Given the description of an element on the screen output the (x, y) to click on. 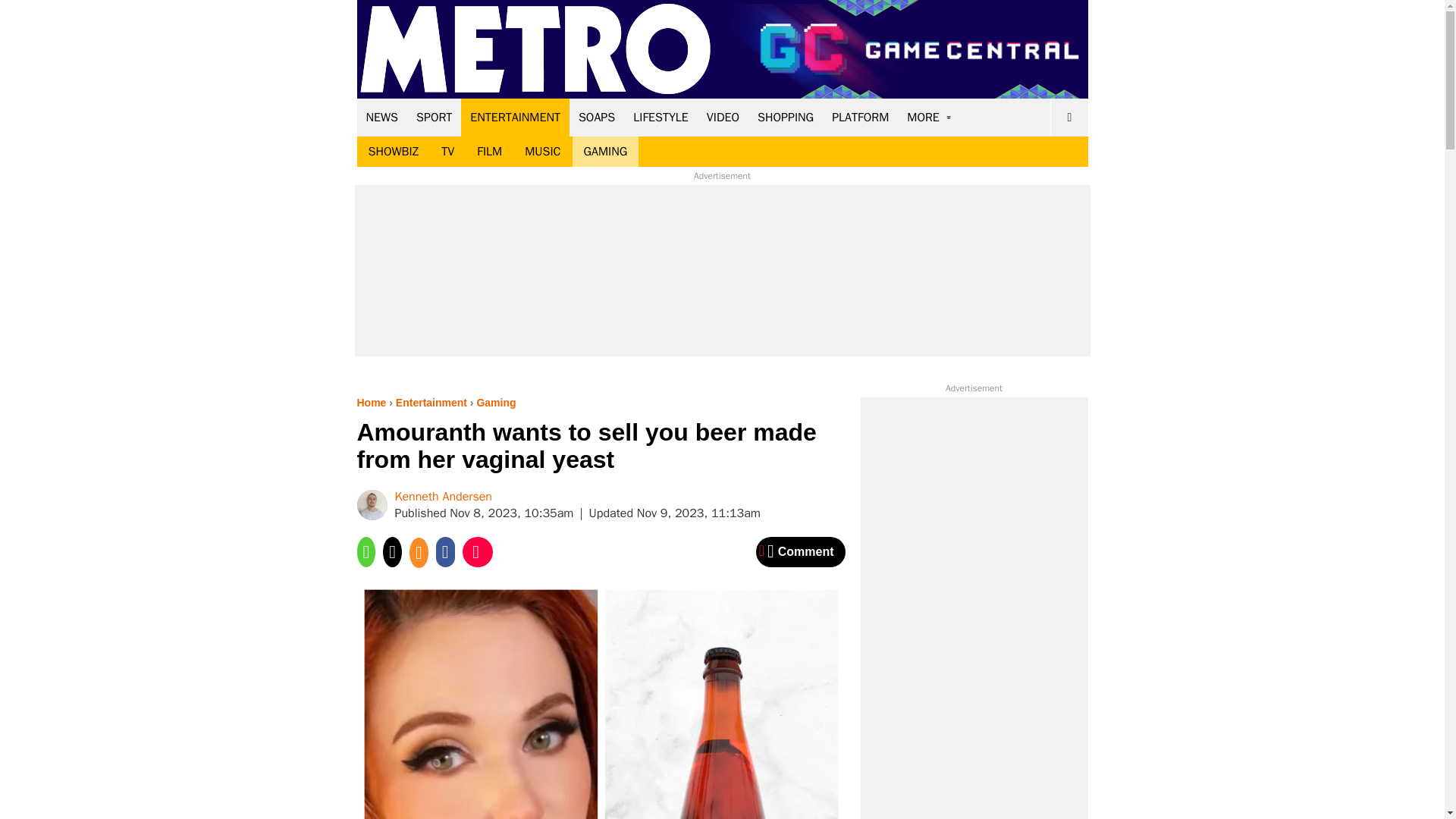
SHOWBIZ (392, 151)
FILM (489, 151)
NEWS (381, 117)
TV (447, 151)
MUSIC (542, 151)
SPORT (434, 117)
SOAPS (596, 117)
LIFESTYLE (660, 117)
ENTERTAINMENT (515, 117)
GAMING (605, 151)
